Given the description of an element on the screen output the (x, y) to click on. 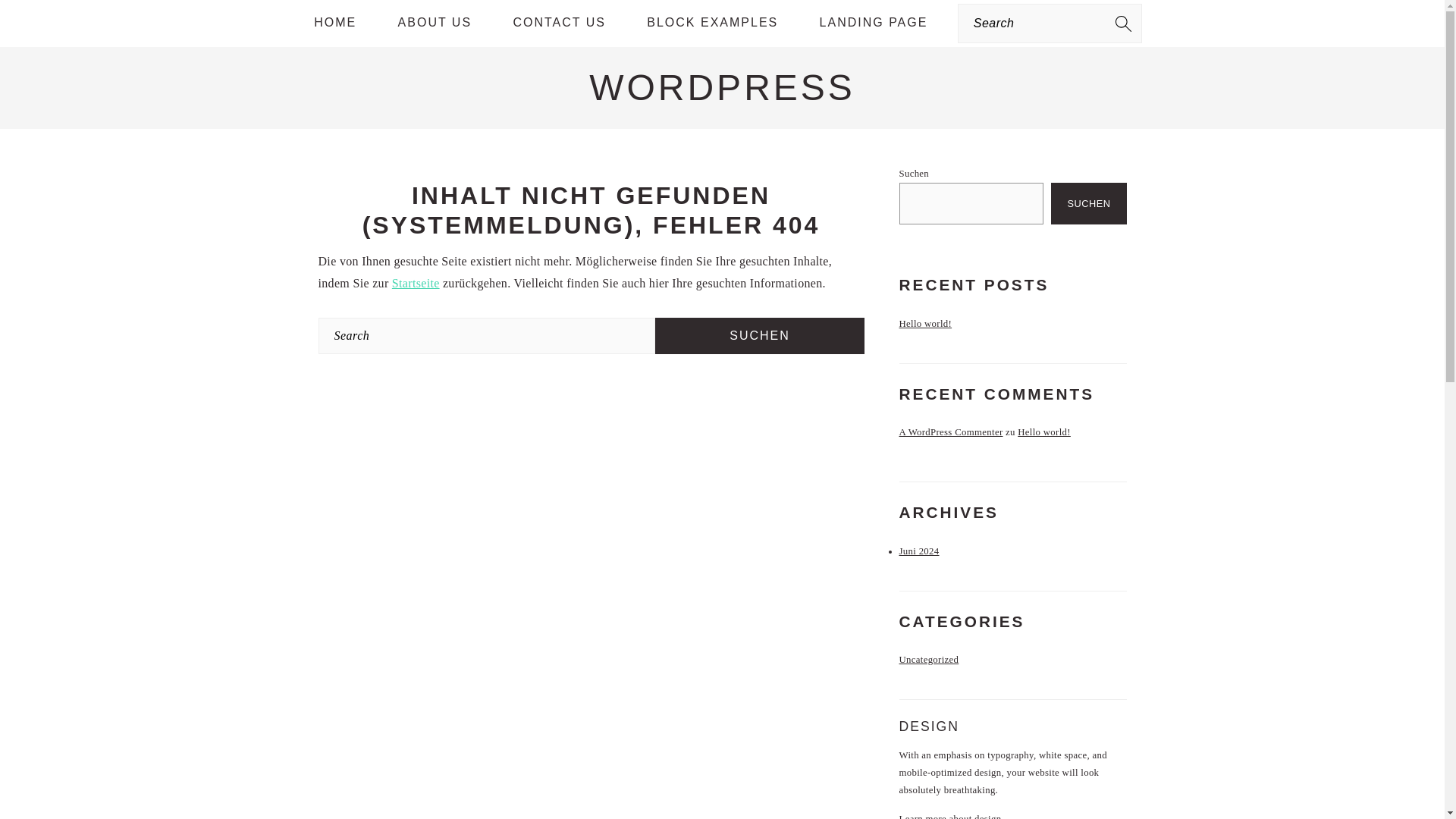
ABOUT US (435, 22)
Hello world! (925, 323)
LANDING PAGE (873, 22)
BLOCK EXAMPLES (711, 22)
A WordPress Commenter (951, 431)
Suchen (759, 335)
Hello world! (1043, 431)
Suchen (759, 335)
WORDPRESS (722, 87)
SUCHEN (1088, 203)
Learn more about design (950, 816)
HOME (335, 22)
CONTACT US (558, 22)
Uncategorized (929, 659)
Suchen (759, 335)
